Given the description of an element on the screen output the (x, y) to click on. 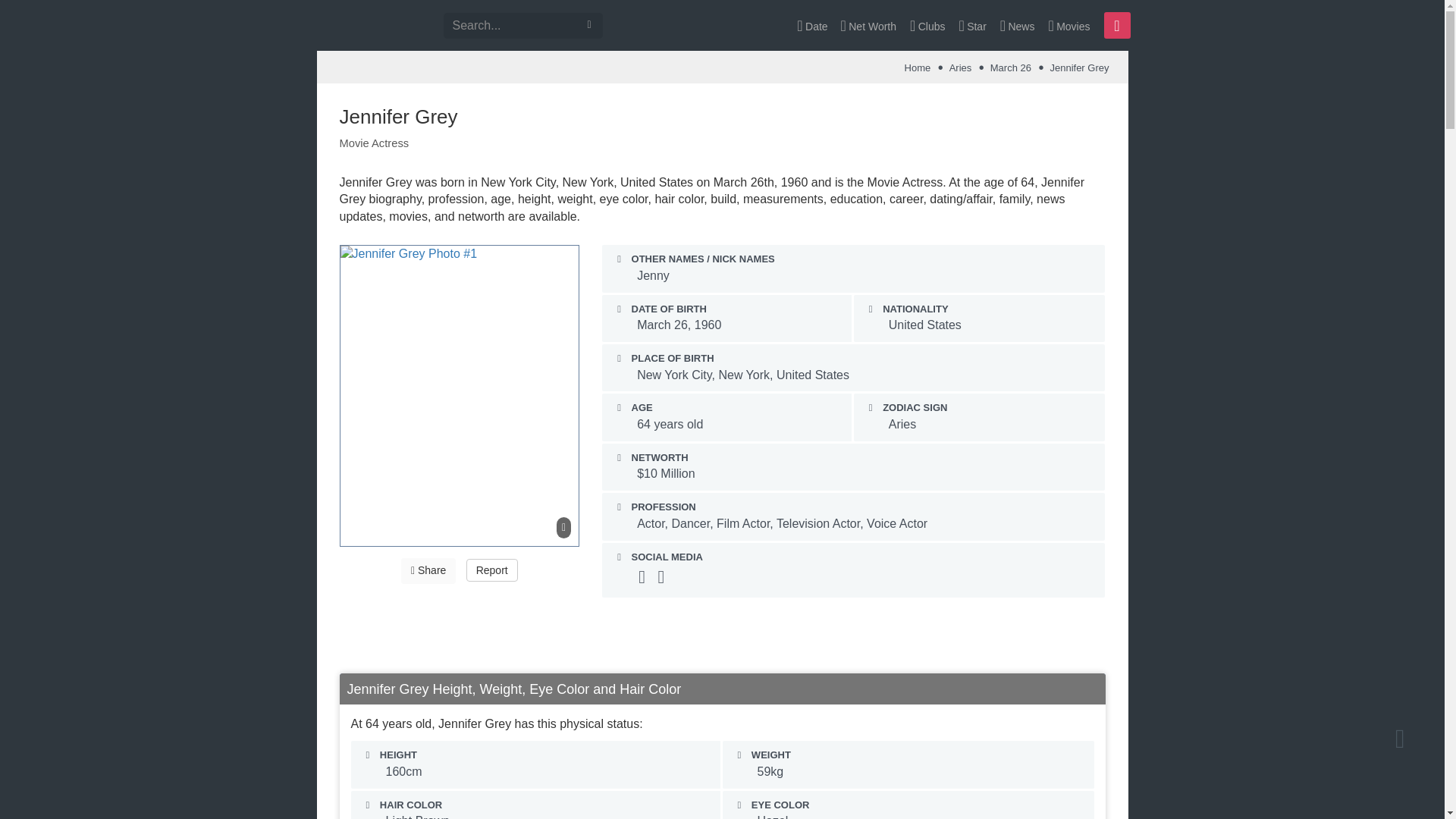
Star (972, 25)
Go to Home (917, 67)
Date (812, 25)
Net Worth (868, 25)
Jennifer Grey (1078, 67)
News (1017, 25)
Home (917, 67)
March 26 (1010, 67)
Report (491, 569)
Aries (960, 67)
Clubs (927, 25)
Go to Jennifer Grey (1078, 67)
Go to Aries (960, 67)
Movies (1068, 25)
Share (428, 570)
